Given the description of an element on the screen output the (x, y) to click on. 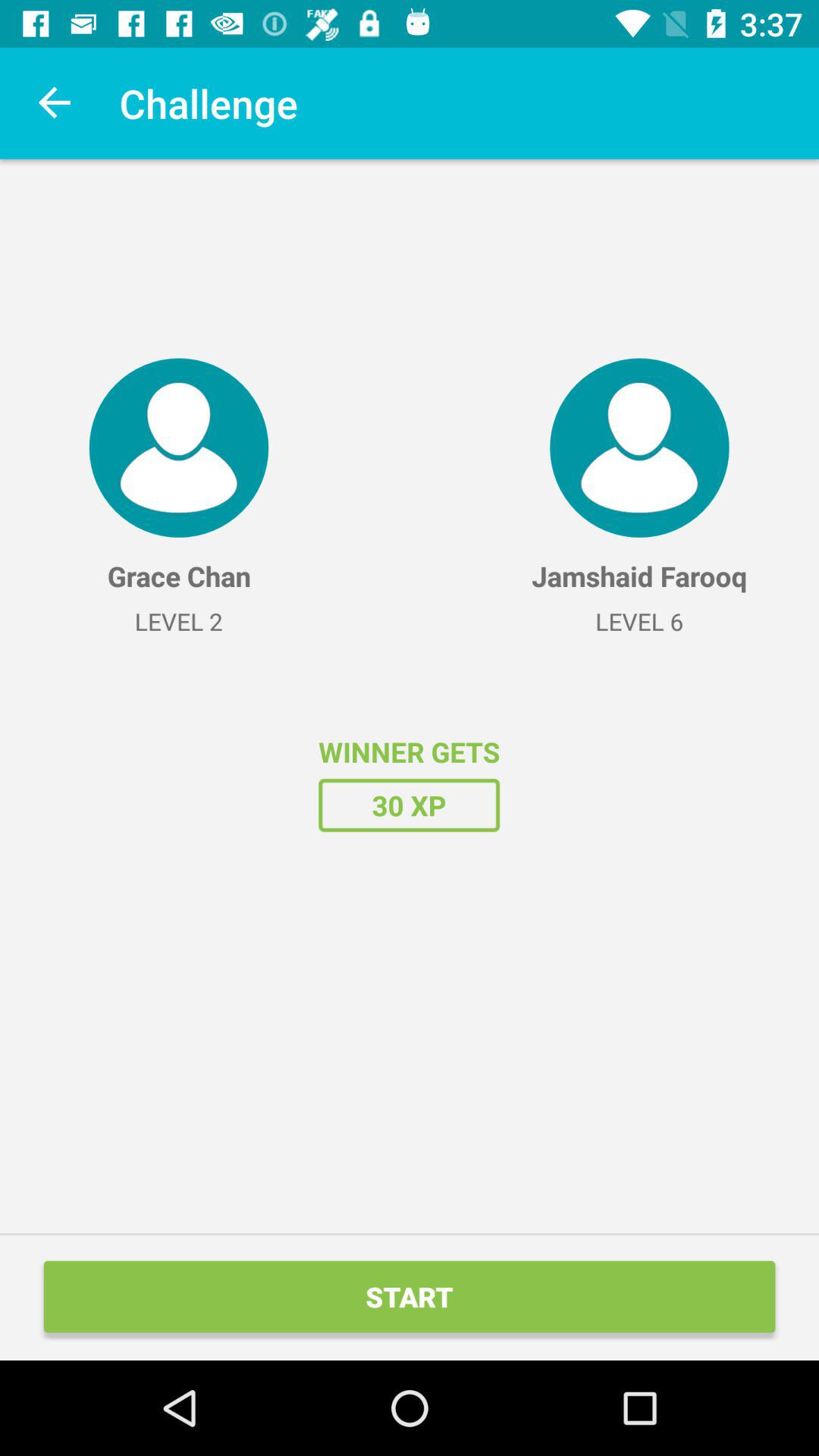
press icon next to challenge item (55, 103)
